Given the description of an element on the screen output the (x, y) to click on. 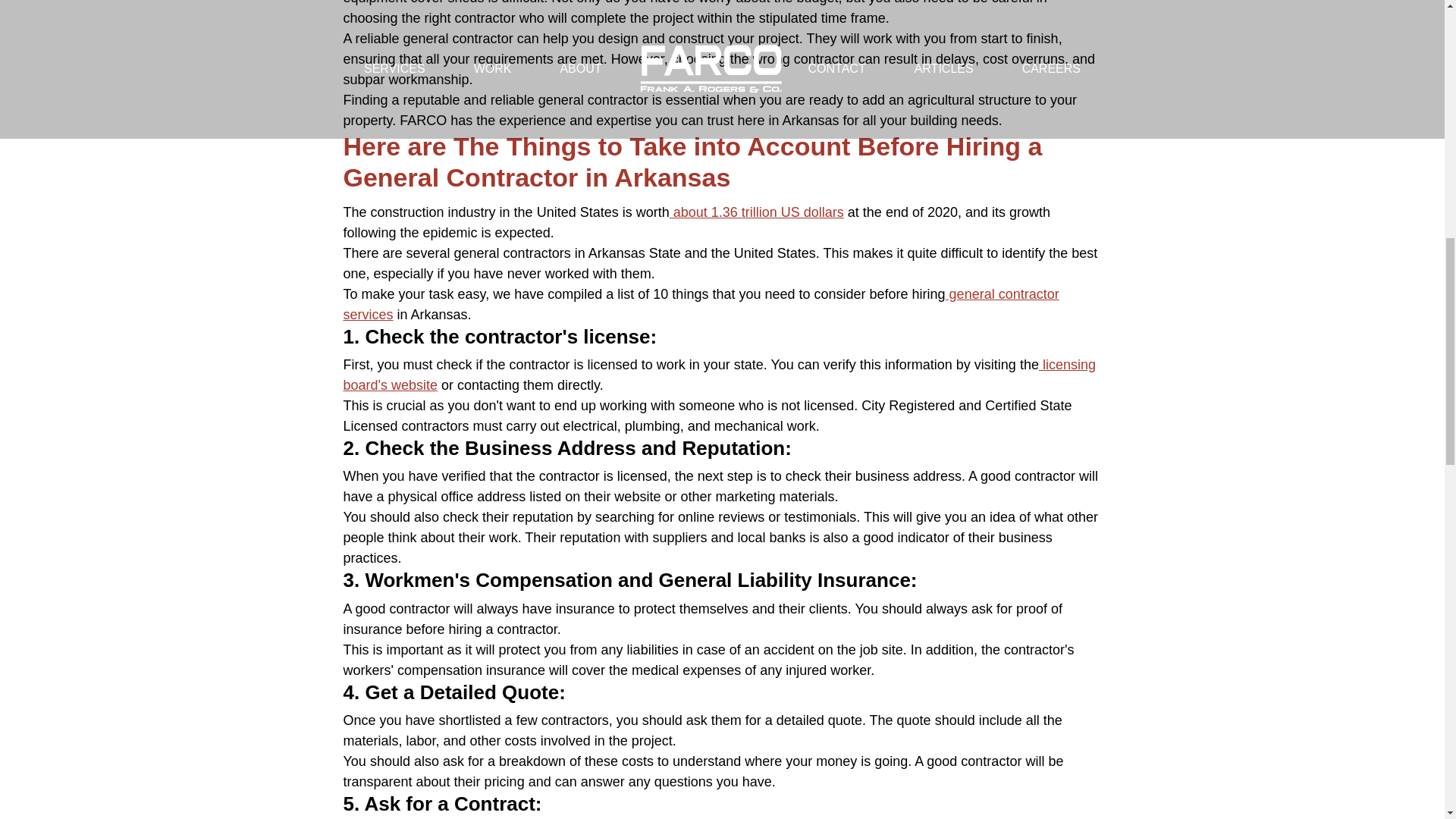
licensing board's website (718, 375)
about 1.36 trillion US dollars (756, 212)
general contractor services (700, 304)
